Given the description of an element on the screen output the (x, y) to click on. 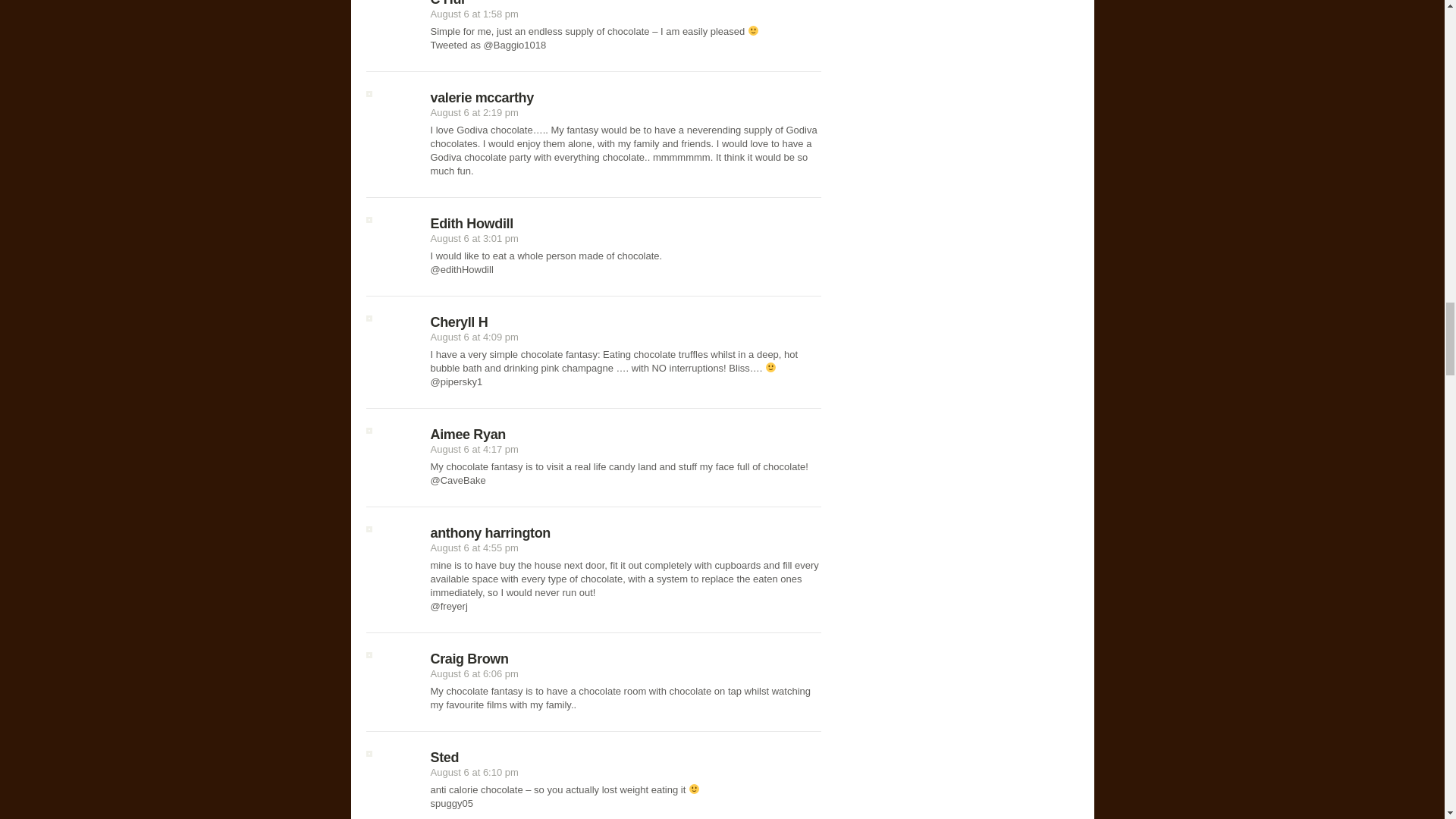
August 6 at 2:19 pm (474, 112)
August 6 at 3:01 pm (474, 238)
August 6 at 4:09 pm (474, 337)
August 6 at 1:58 pm (474, 13)
